Given the description of an element on the screen output the (x, y) to click on. 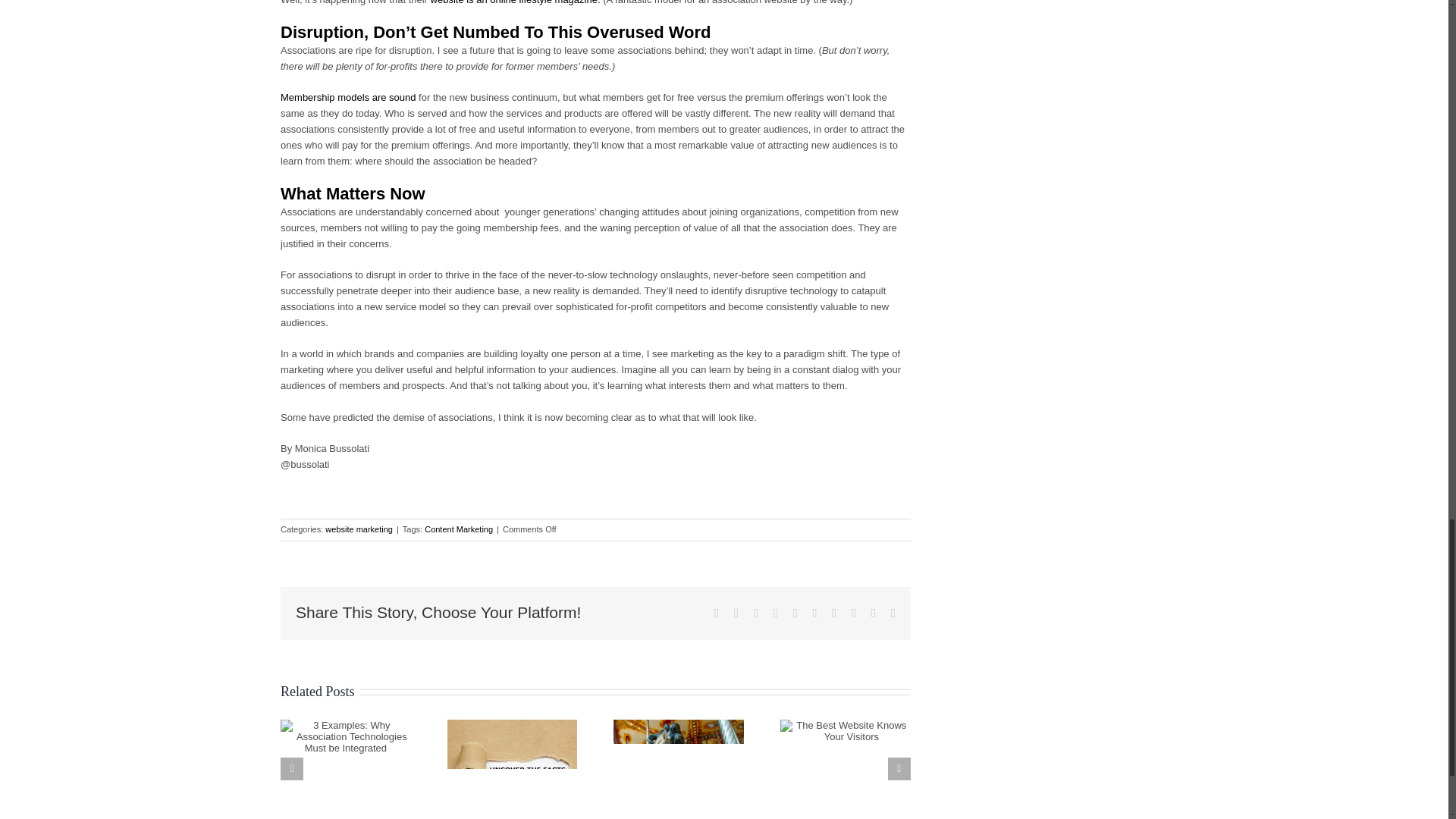
website marketing (358, 528)
are sound (394, 97)
Content Marketing (459, 528)
website is an online lifestyle magazine. (514, 2)
Membership models (325, 97)
